Given the description of an element on the screen output the (x, y) to click on. 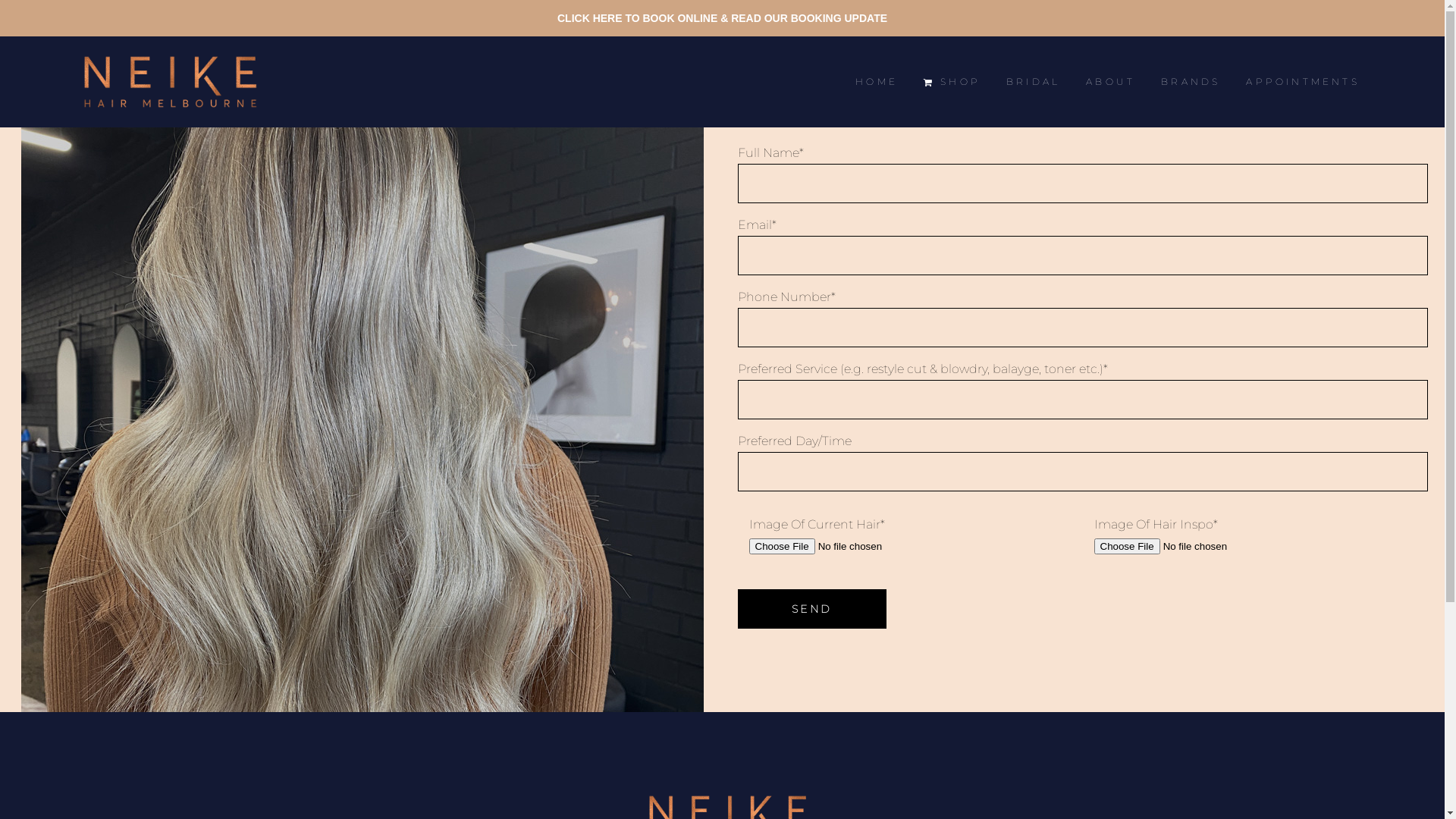
APPOINTMENTS Element type: text (1302, 81)
Send Element type: text (811, 608)
BRIDAL Element type: text (1033, 81)
HOME Element type: text (876, 81)
SHOP Element type: text (951, 81)
BRANDS Element type: text (1190, 81)
ABOUT Element type: text (1110, 81)
CLICK HERE TO BOOK ONLINE & READ OUR BOOKING UPDATE Element type: text (722, 18)
